Given the description of an element on the screen output the (x, y) to click on. 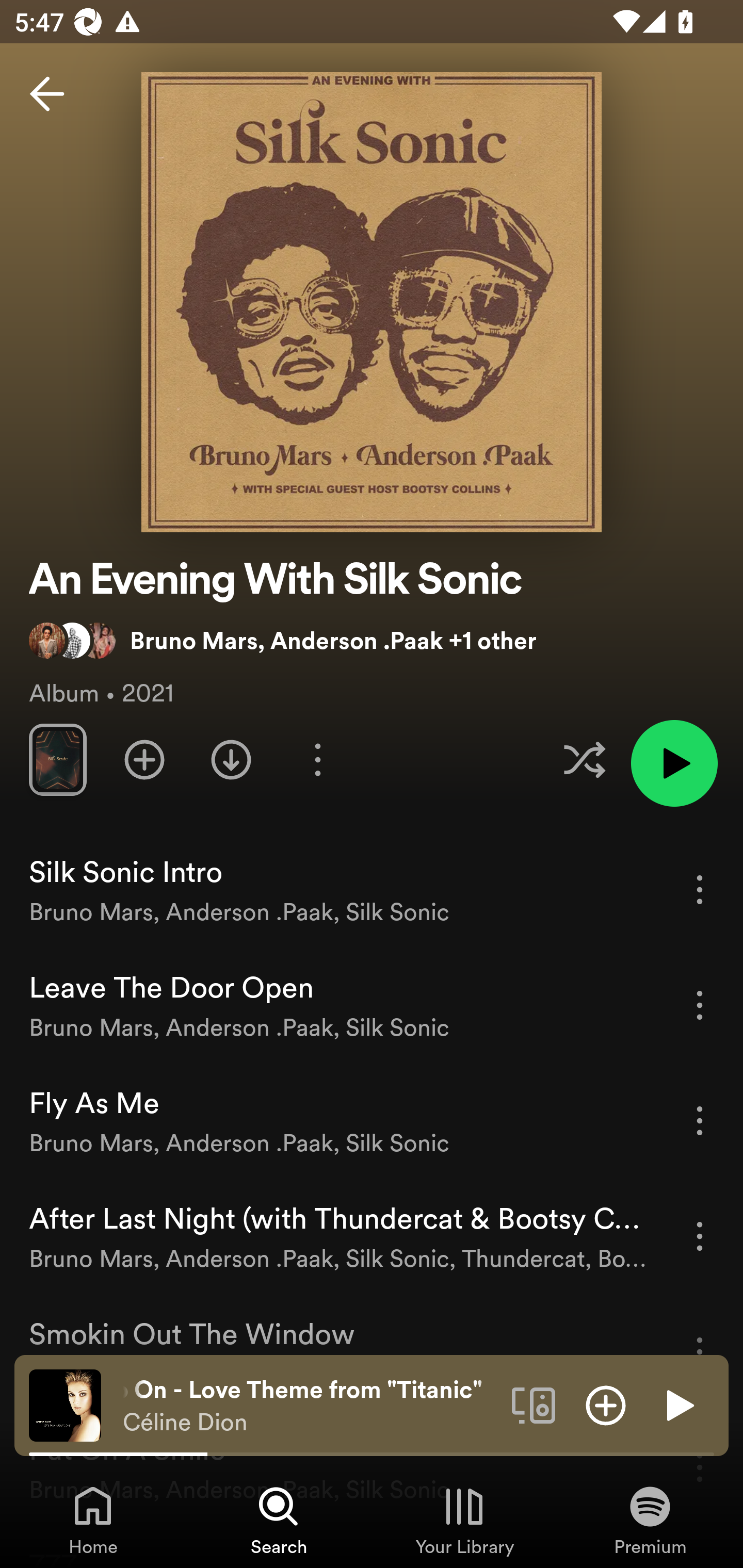
Back (46, 93)
Bruno Mars, Anderson .Paak +1 other (282, 640)
Swipe through previews of tracks from this album. (57, 759)
Add playlist to Your Library (144, 759)
Download (230, 759)
Enable shuffle for this playlist (583, 759)
Play playlist (674, 763)
More options for song Silk Sonic Intro (699, 889)
More options for song Leave The Door Open (699, 1004)
More options for song Fly As Me (699, 1120)
The cover art of the currently playing track (64, 1404)
Connect to a device. Opens the devices menu (533, 1404)
Add item (605, 1404)
Play (677, 1404)
Home, Tab 1 of 4 Home Home (92, 1519)
Search, Tab 2 of 4 Search Search (278, 1519)
Your Library, Tab 3 of 4 Your Library Your Library (464, 1519)
Premium, Tab 4 of 4 Premium Premium (650, 1519)
